Given the description of an element on the screen output the (x, y) to click on. 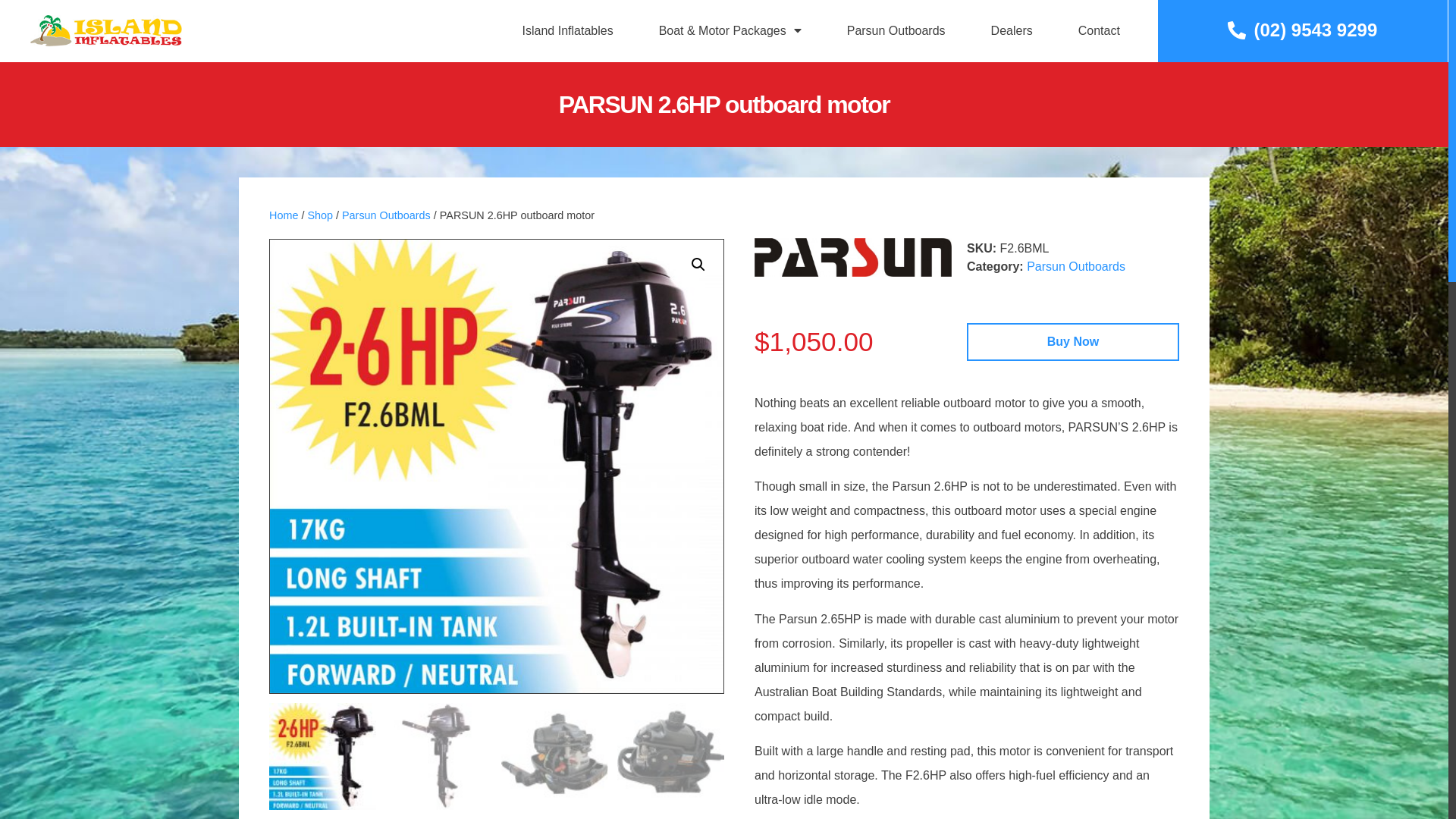
F2.6BMS copy Element type: hover (949, 466)
Island Inflatables Element type: text (567, 30)
Shop Element type: text (319, 215)
Boat & Motor Packages Element type: text (730, 30)
Parsun Outboards Element type: text (1075, 266)
(02) 9543 9299 Element type: text (1302, 30)
Dealers Element type: text (1011, 30)
Buy Now Element type: text (1072, 341)
Parsun Outboards Element type: text (386, 215)
Home Element type: text (283, 215)
Parsun Outboards Element type: text (896, 30)
Contact Element type: text (1098, 30)
OUTBOARD_Product_Pics_A Element type: hover (496, 466)
